Given the description of an element on the screen output the (x, y) to click on. 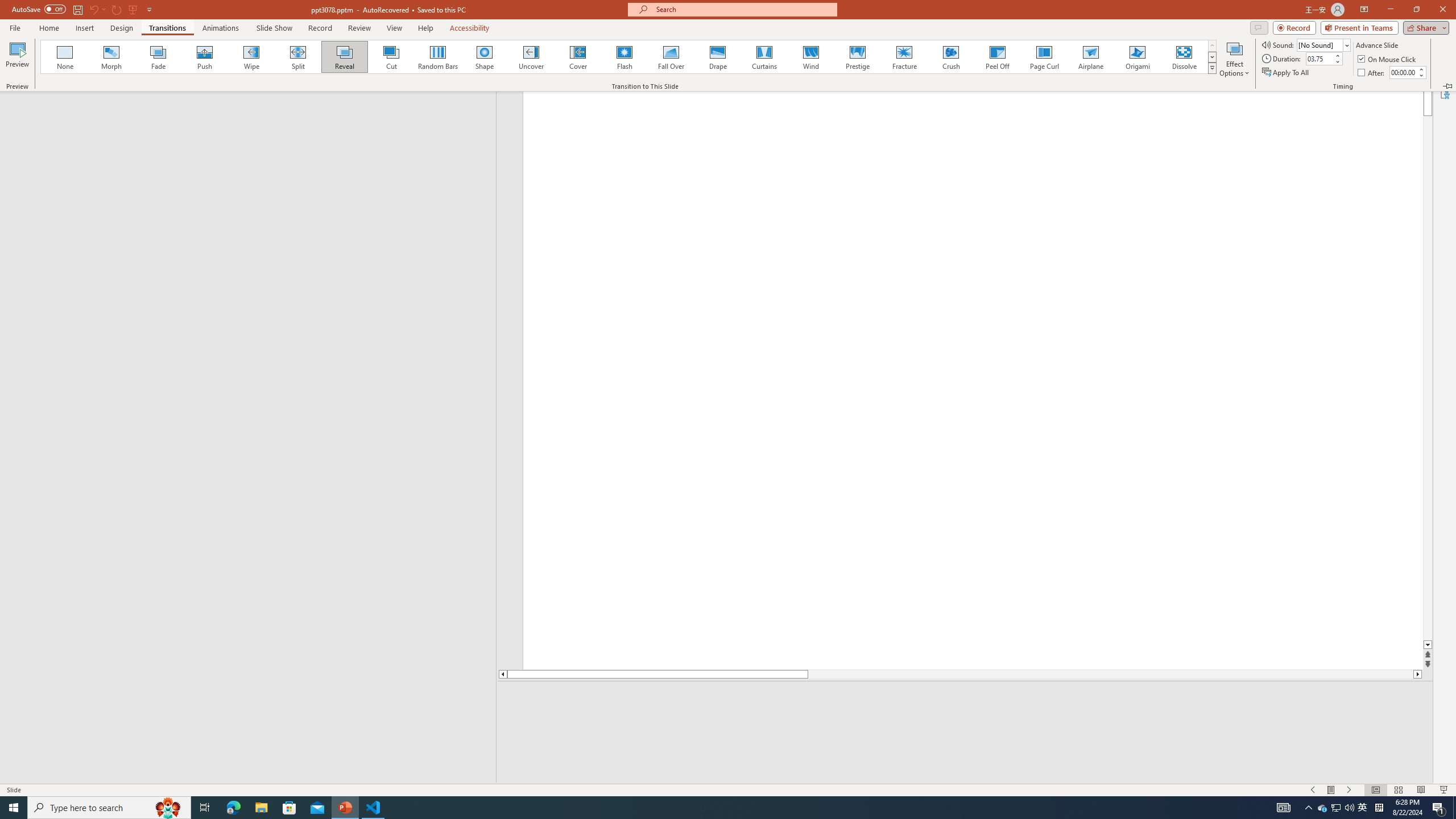
Slide Show Previous On (1313, 790)
